Given the description of an element on the screen output the (x, y) to click on. 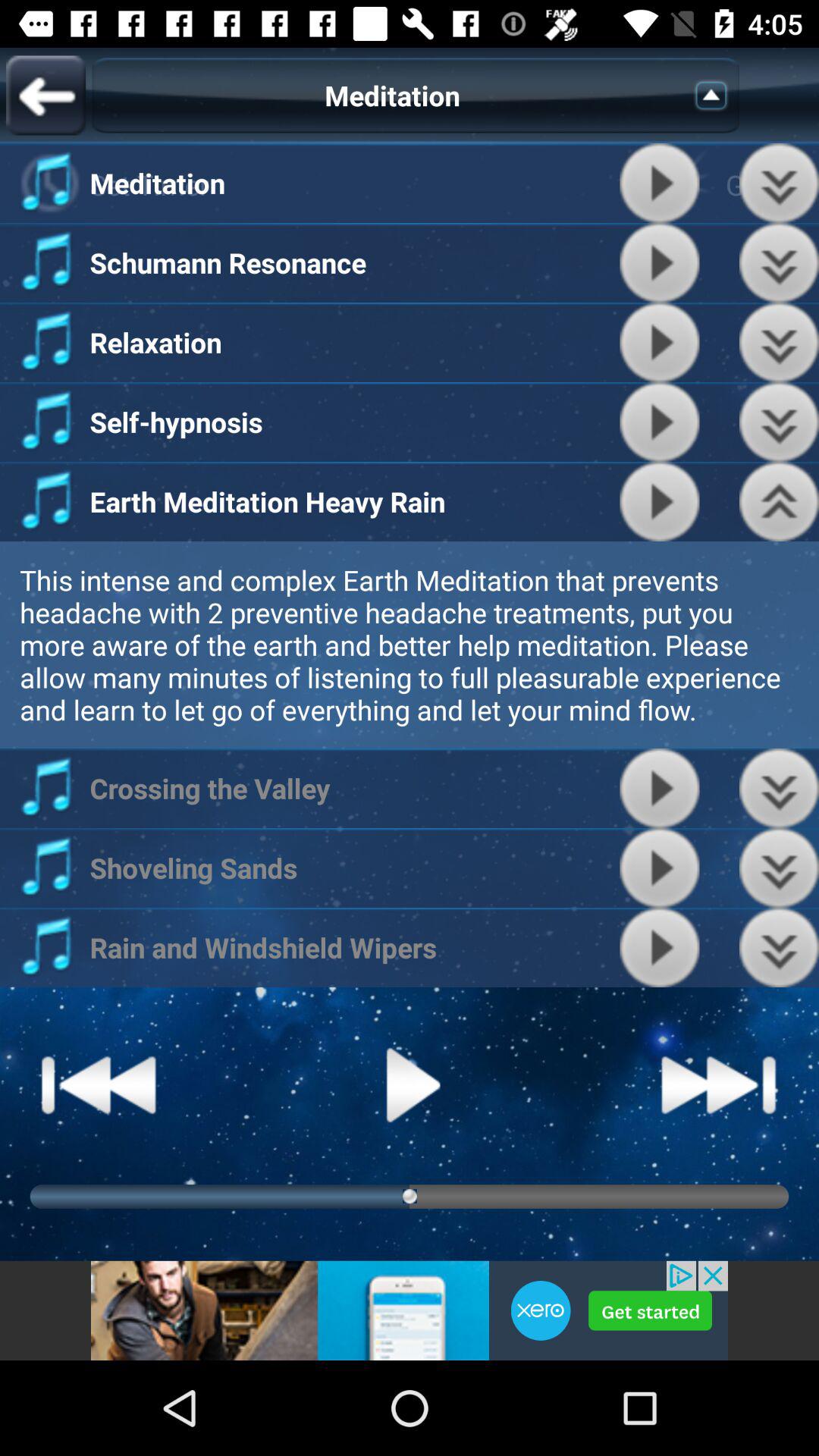
go to previous page (45, 95)
